Given the description of an element on the screen output the (x, y) to click on. 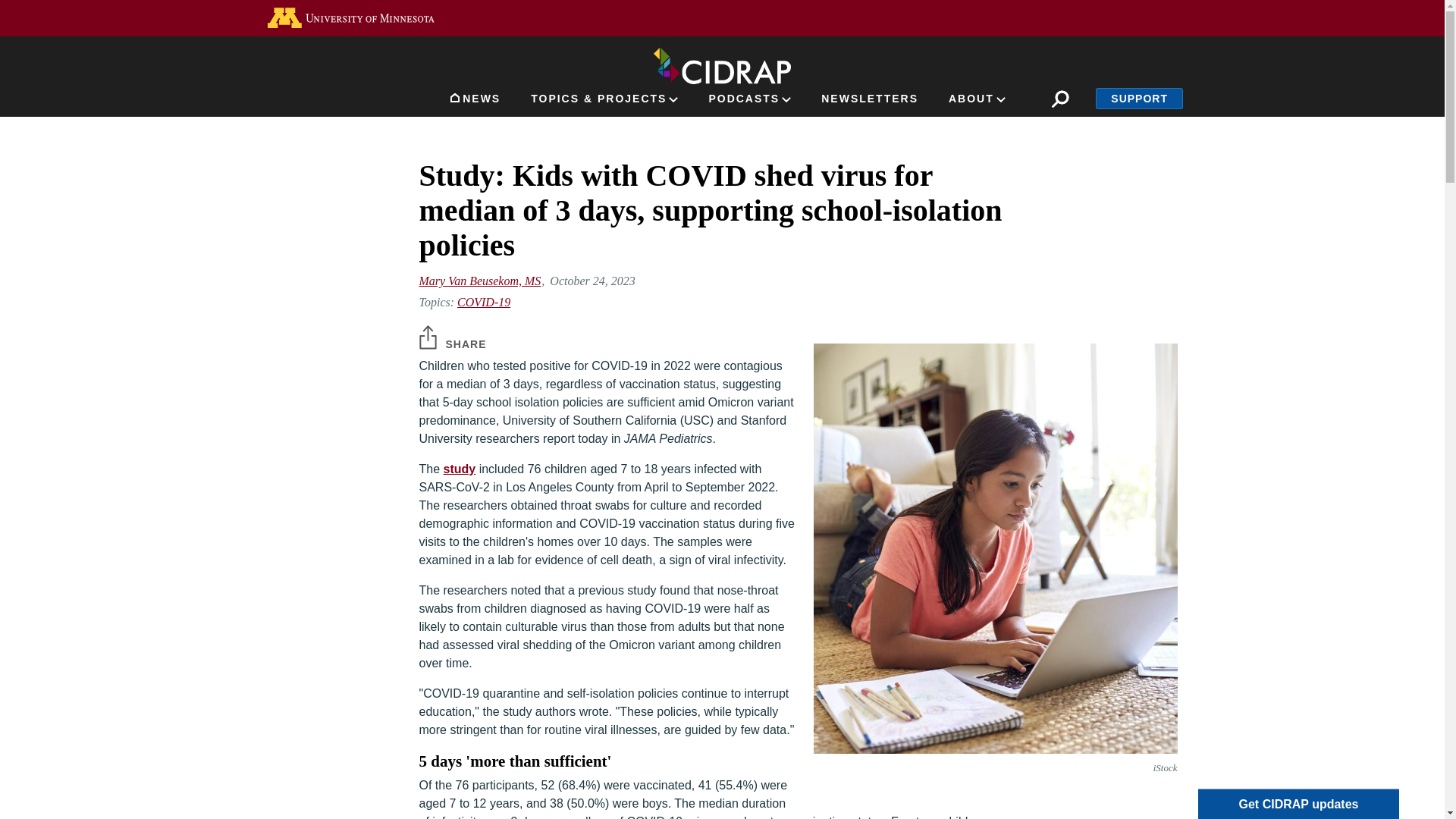
NEWS (474, 102)
Home (721, 62)
